Given the description of an element on the screen output the (x, y) to click on. 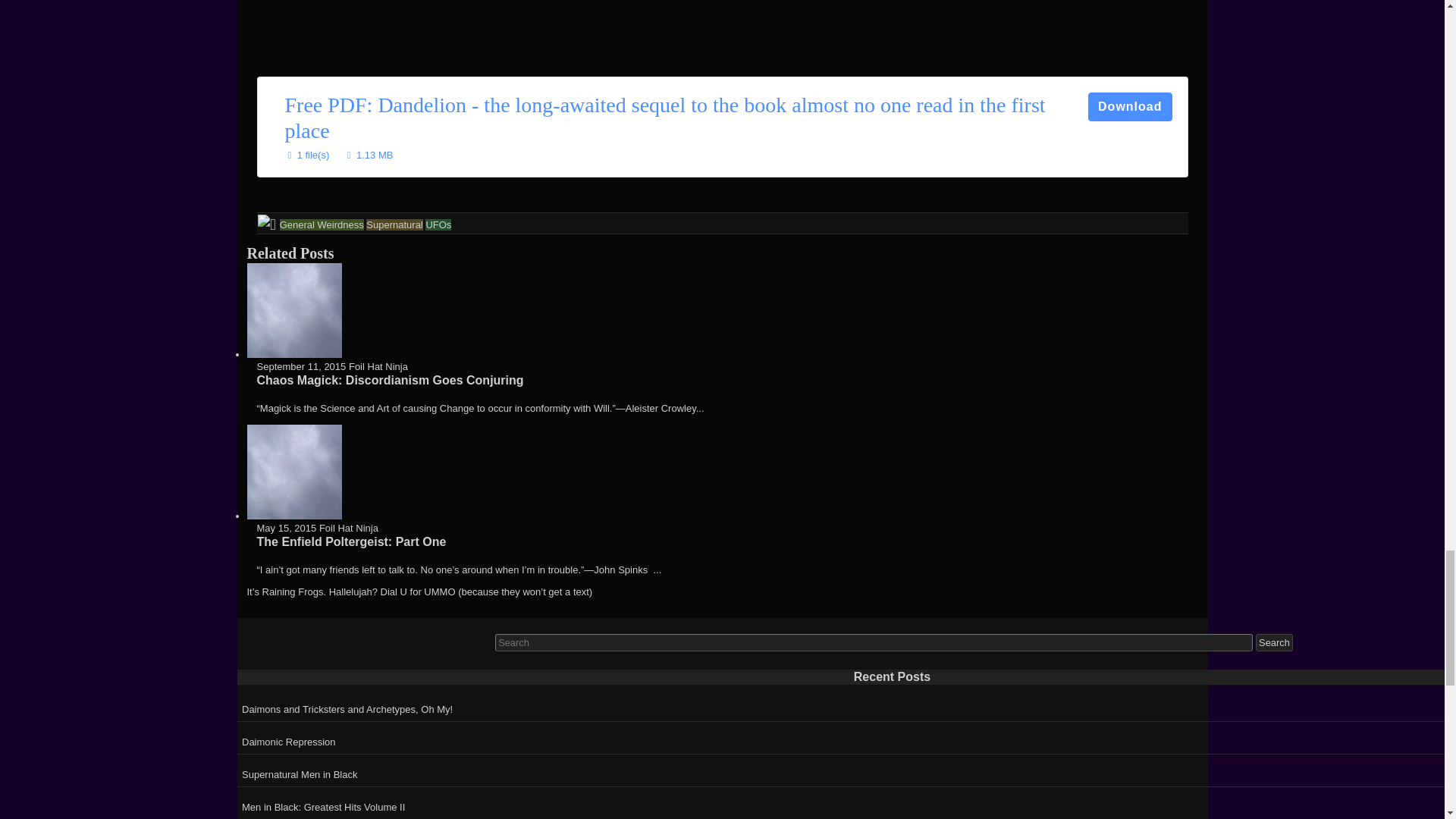
May 15, 2015 (285, 527)
Men in Black: Greatest Hits Volume II (845, 805)
Search (1273, 642)
Daimons and Tricksters and Archetypes, Oh My! (845, 707)
Supernatural Men in Black (845, 772)
Foil Hat Ninja (348, 527)
September 11, 2015 (301, 366)
Download (1129, 106)
must not contain html tags (873, 642)
